Given the description of an element on the screen output the (x, y) to click on. 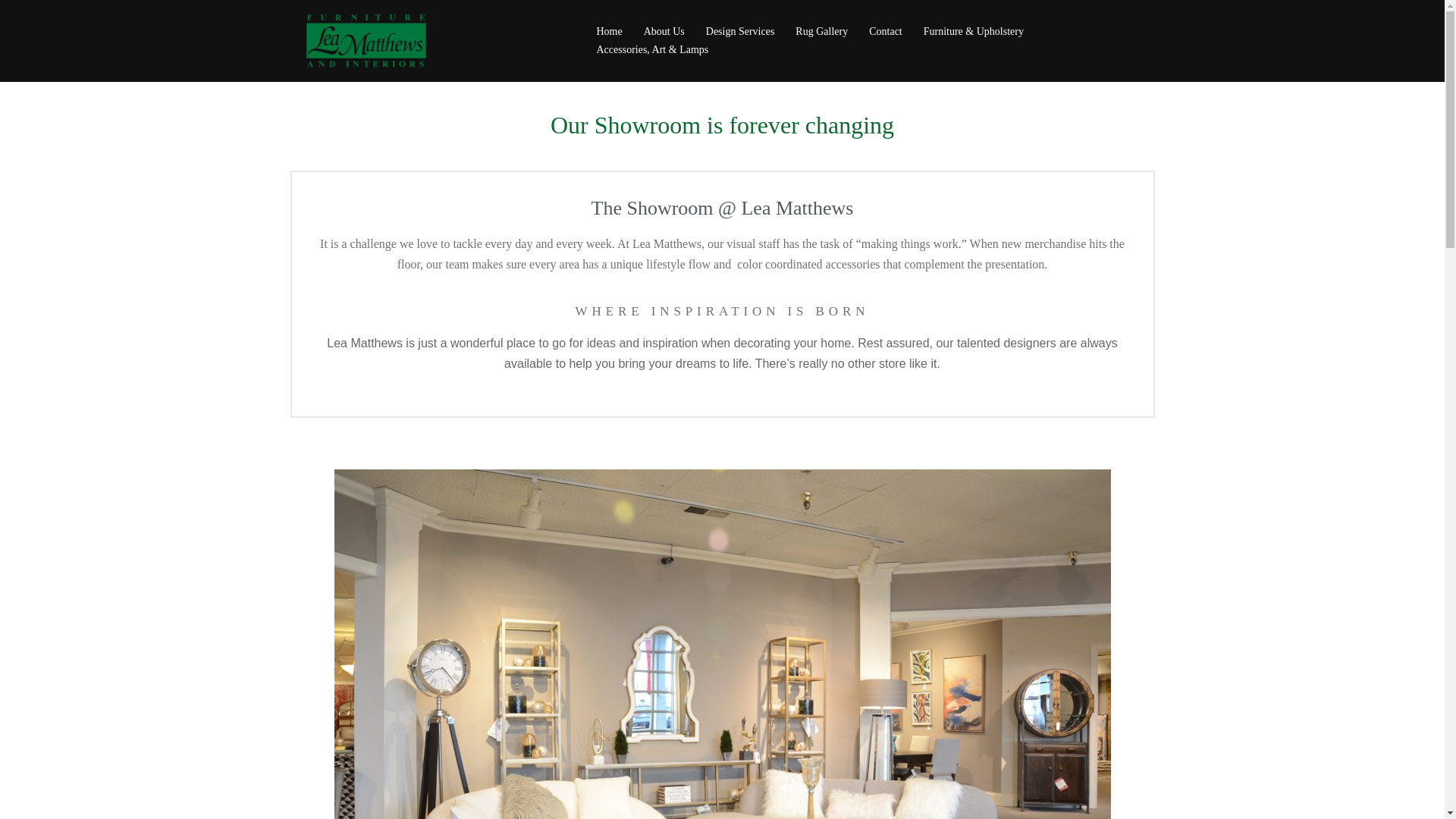
Lea Matthews Furniture Interior Design Evansville, Indiana (365, 39)
Contact (885, 31)
Home (608, 31)
Rug Gallery (820, 31)
About Us (663, 31)
Design Services (740, 31)
